Given the description of an element on the screen output the (x, y) to click on. 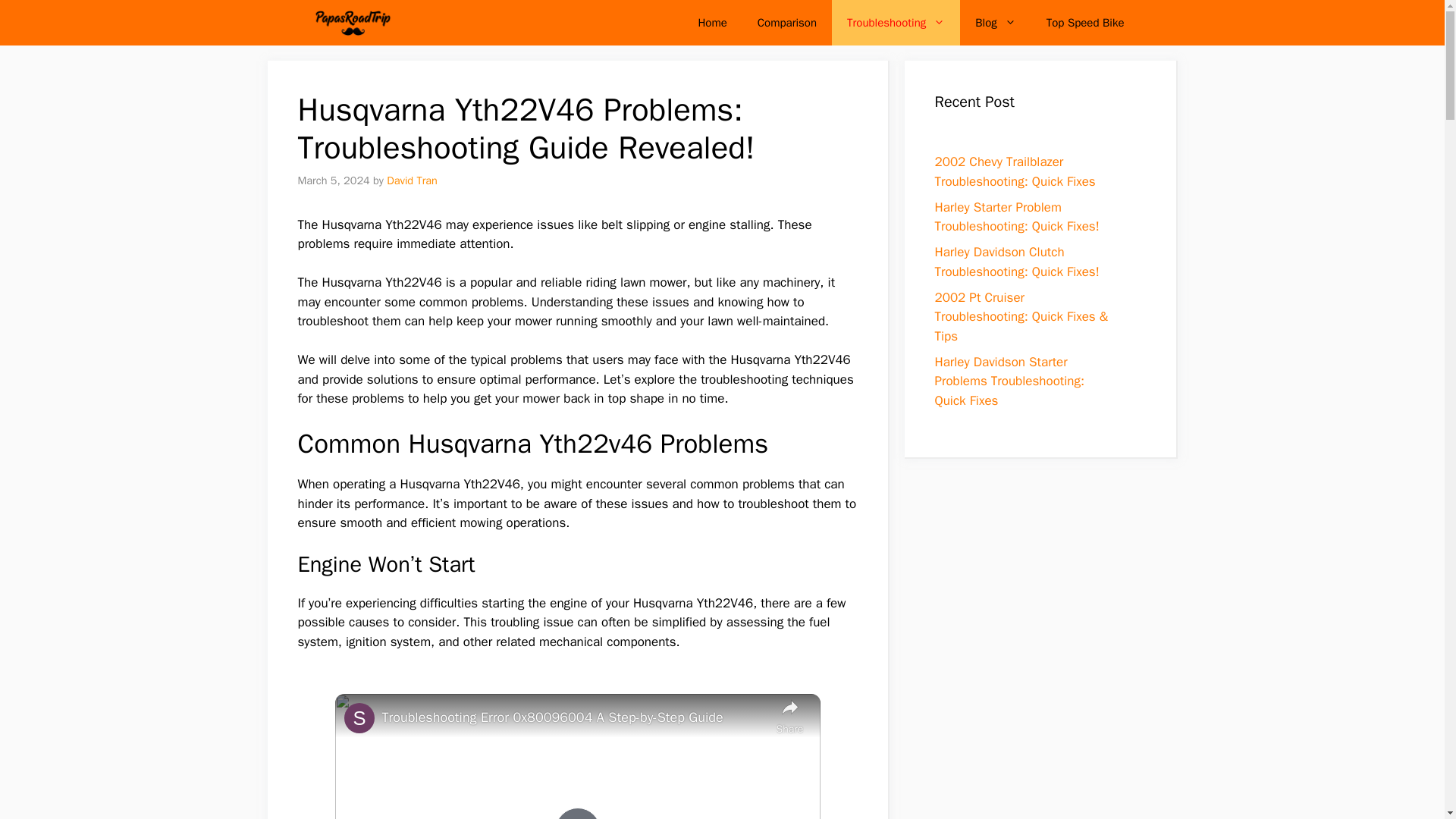
Papas Road Trip (350, 22)
Top Speed Bike (1085, 22)
Comparison (786, 22)
David Tran (412, 180)
Play Video (576, 813)
Troubleshooting Error 0x80096004 A Step-by-Step Guide (574, 717)
View all posts by David Tran (412, 180)
Troubleshooting (895, 22)
Home (711, 22)
Play Video (576, 813)
